Given the description of an element on the screen output the (x, y) to click on. 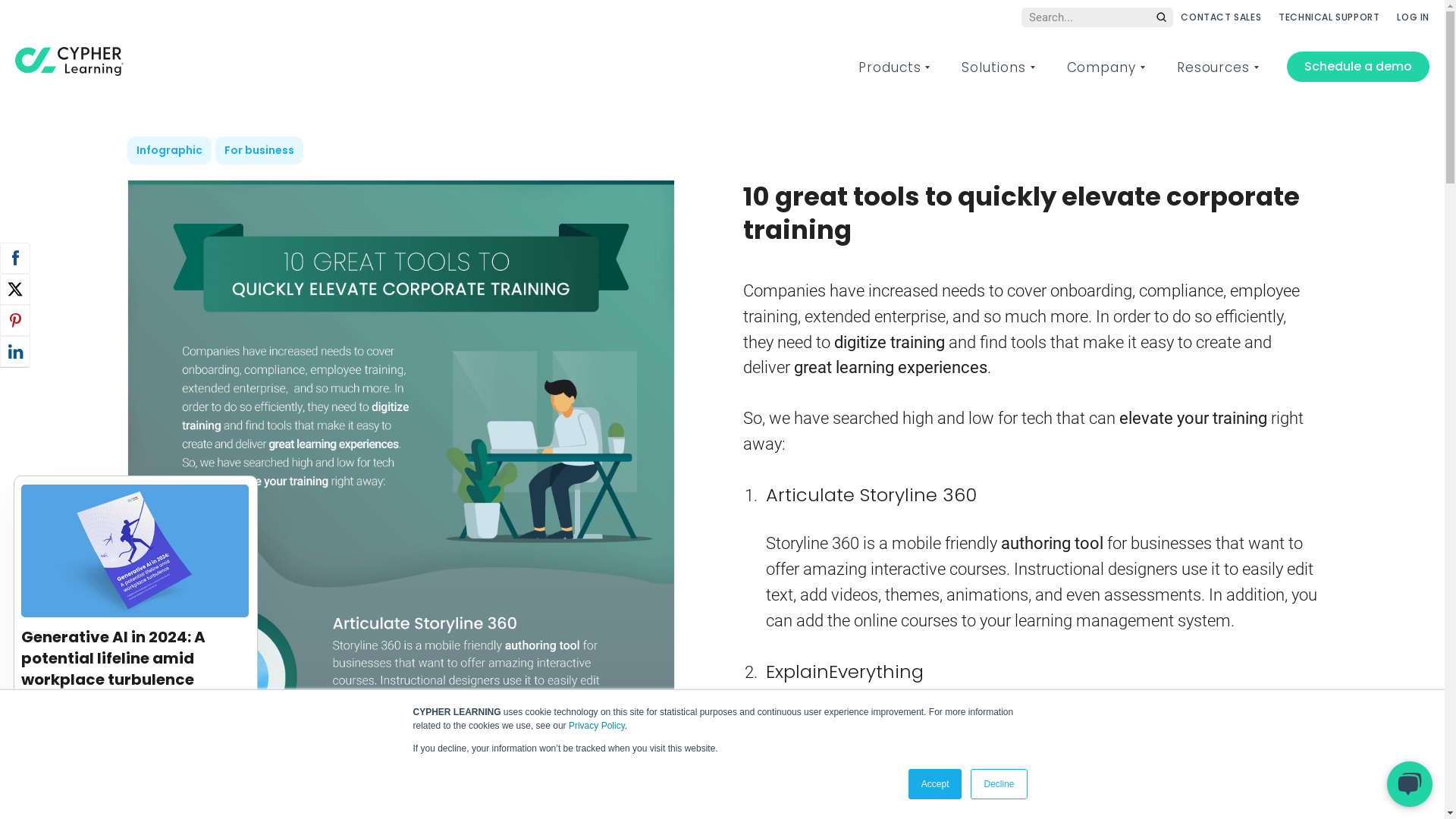
Privacy Policy Element type: text (596, 725)
Schedule a demo Element type: text (1357, 66)
LOG IN Element type: text (1412, 16)
Accept Element type: text (935, 783)
CONTACT SALES Element type: text (1220, 16)
Company Element type: text (1100, 67)
Products Element type: text (889, 67)
Show submenu for Resources Element type: text (1255, 67)
Show submenu for Products Element type: text (926, 67)
TECHNICAL SUPPORT Element type: text (1328, 16)
Show submenu for Solutions Element type: text (1032, 67)
Solutions Element type: text (993, 67)
Decline Element type: text (998, 783)
Show submenu for Company Element type: text (1142, 67)
Read the survey report Element type: text (135, 721)
Resources Element type: text (1212, 67)
